Given the description of an element on the screen output the (x, y) to click on. 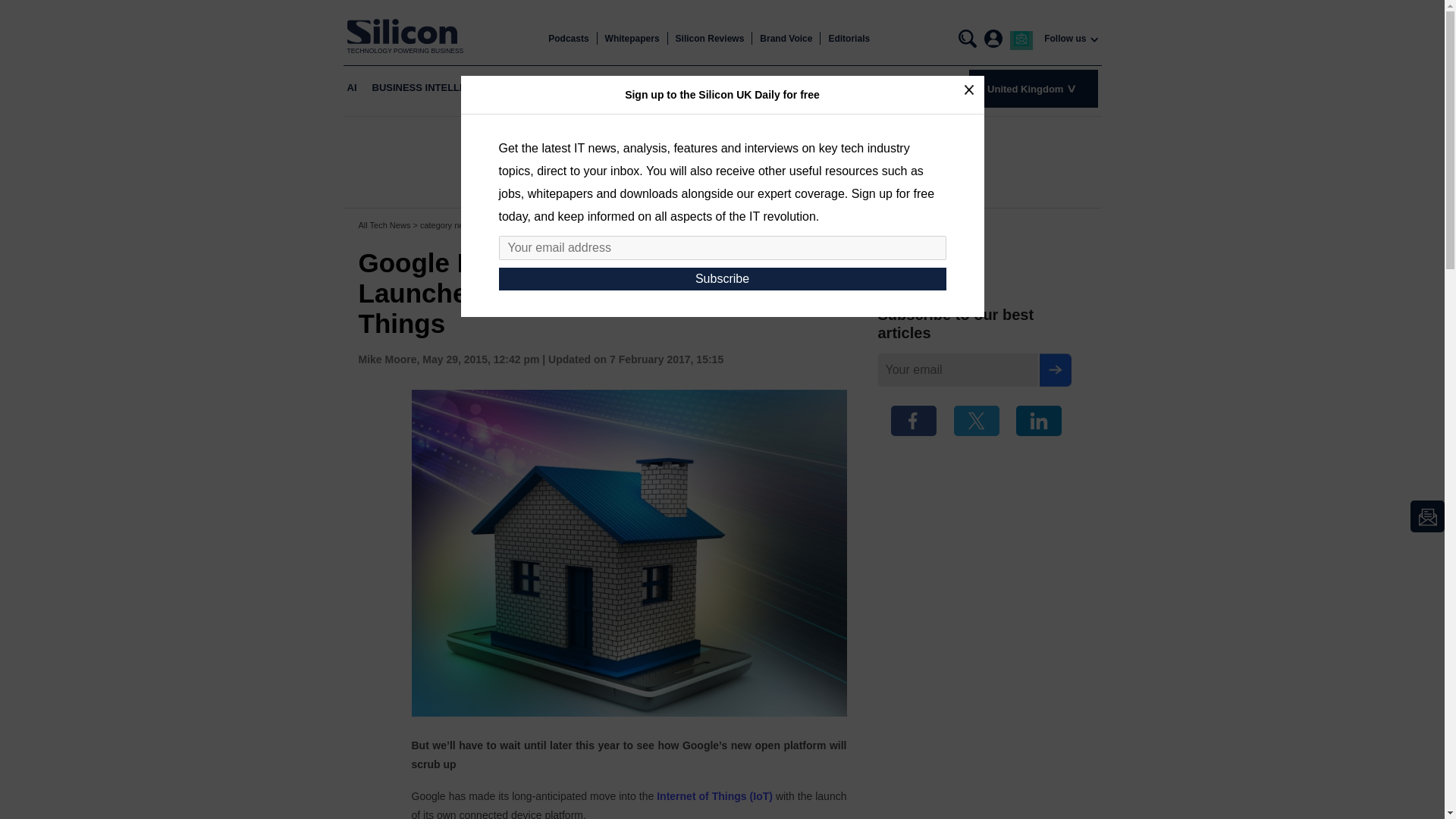
Whitepapers (632, 38)
CLOUD (529, 87)
MARKETING (782, 87)
United Kingdom (1033, 88)
DIGITAL TRANSFORMATION (629, 87)
Brand Voice (786, 38)
Editorials (848, 38)
How To Explain The Internet Of Things To A Five-Year-Old (714, 796)
SECURITY (853, 87)
Podcasts (568, 38)
